Given the description of an element on the screen output the (x, y) to click on. 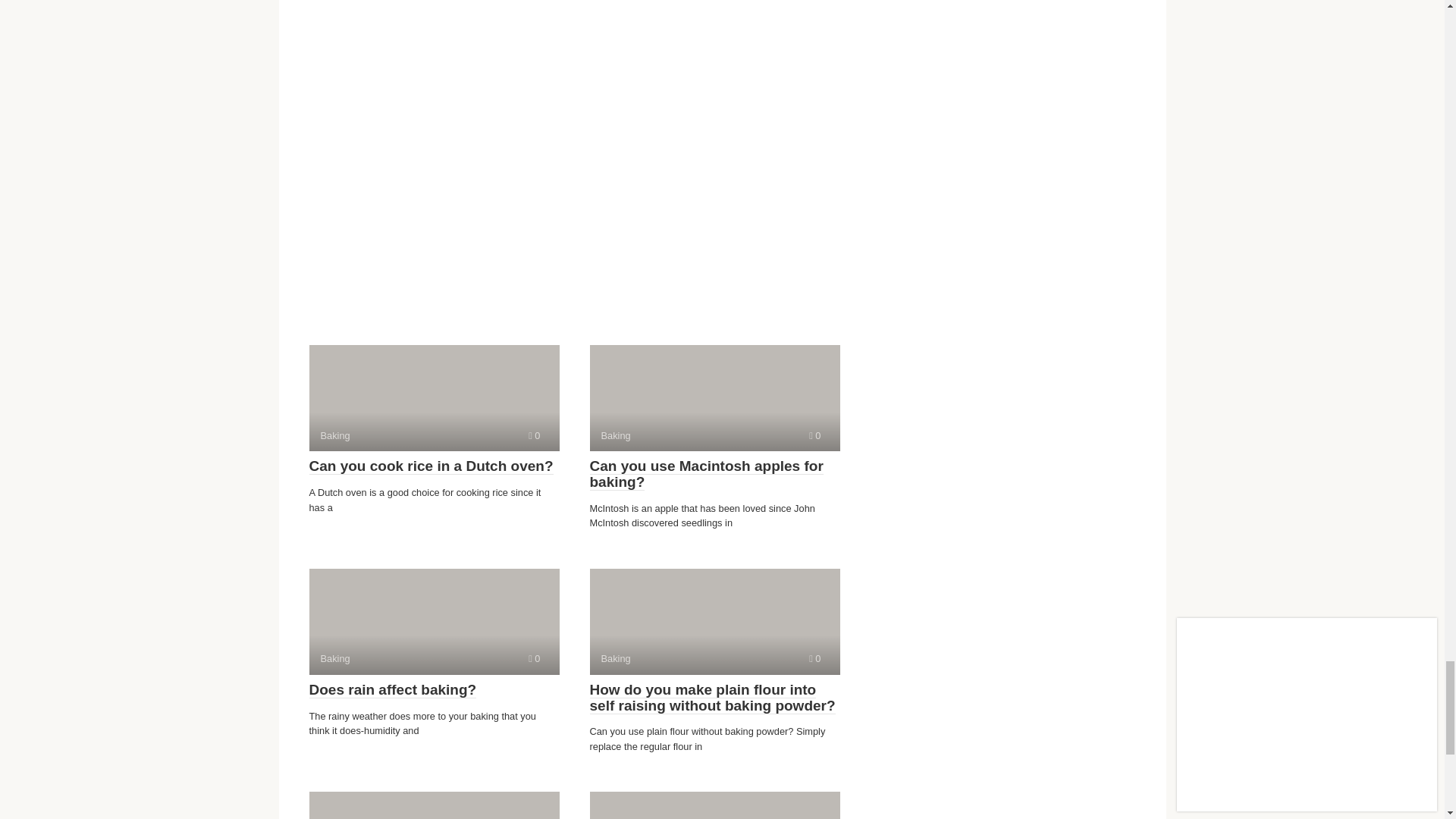
Comments (815, 658)
Can you cook rice in a Dutch oven? (430, 466)
Can you use Macintosh apples for baking? (706, 473)
Comments (534, 435)
Comments (815, 435)
Comments (534, 658)
